Given the description of an element on the screen output the (x, y) to click on. 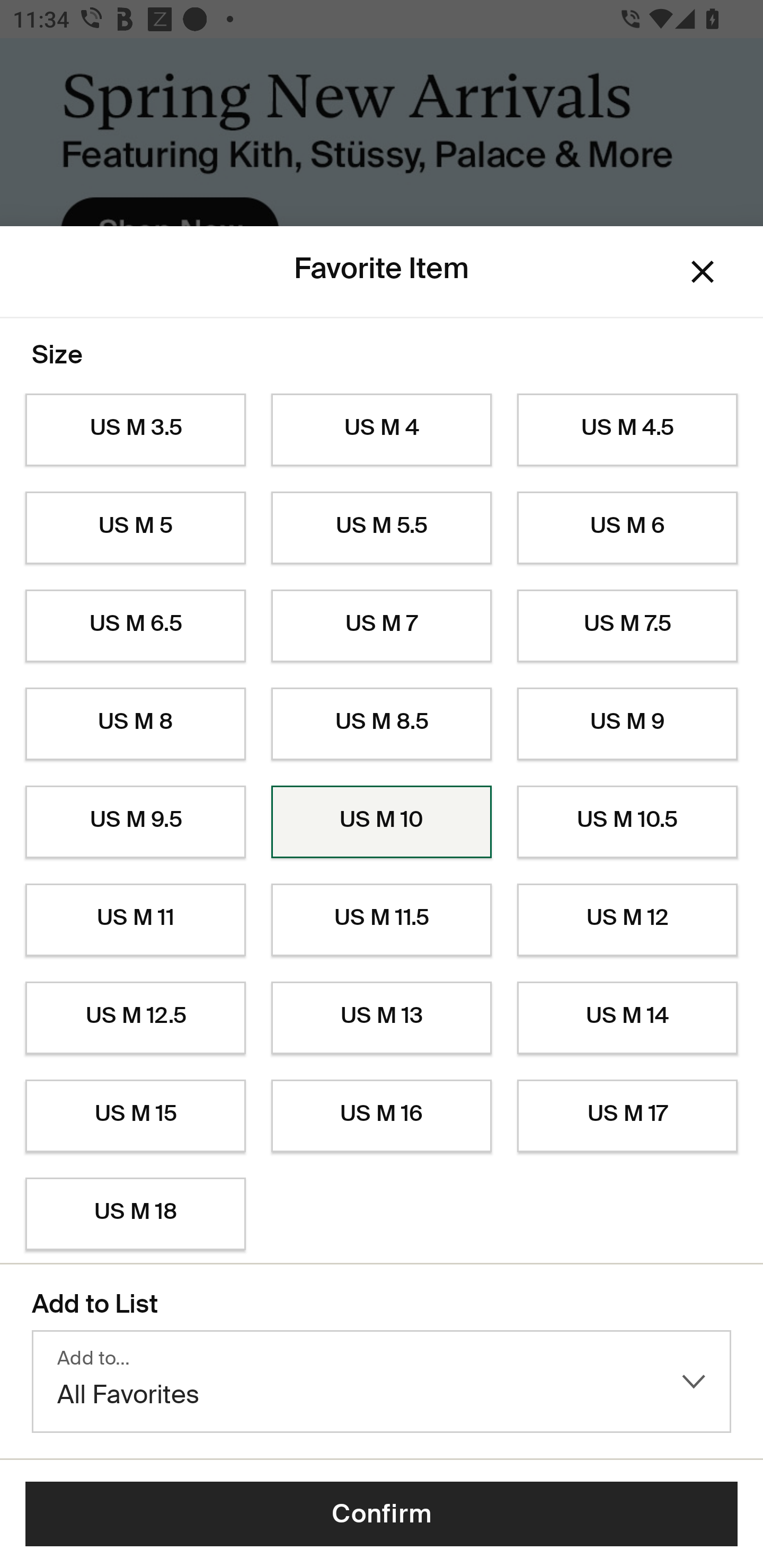
Dismiss (702, 271)
US M 3.5 (135, 430)
US M 4 (381, 430)
US M 4.5 (627, 430)
US M 5 (135, 527)
US M 5.5 (381, 527)
US M 6 (627, 527)
US M 6.5 (135, 626)
US M 7 (381, 626)
US M 7.5 (627, 626)
US M 8 (135, 724)
US M 8.5 (381, 724)
US M 9 (627, 724)
US M 9.5 (135, 822)
US M 10 (381, 822)
US M 10.5 (627, 822)
US M 11 (135, 919)
US M 11.5 (381, 919)
US M 12 (627, 919)
US M 12.5 (135, 1018)
US M 13 (381, 1018)
US M 14 (627, 1018)
US M 15 (135, 1116)
US M 16 (381, 1116)
US M 17 (627, 1116)
US M 18 (135, 1214)
Add to… All Favorites (381, 1381)
Confirm (381, 1513)
